Given the description of an element on the screen output the (x, y) to click on. 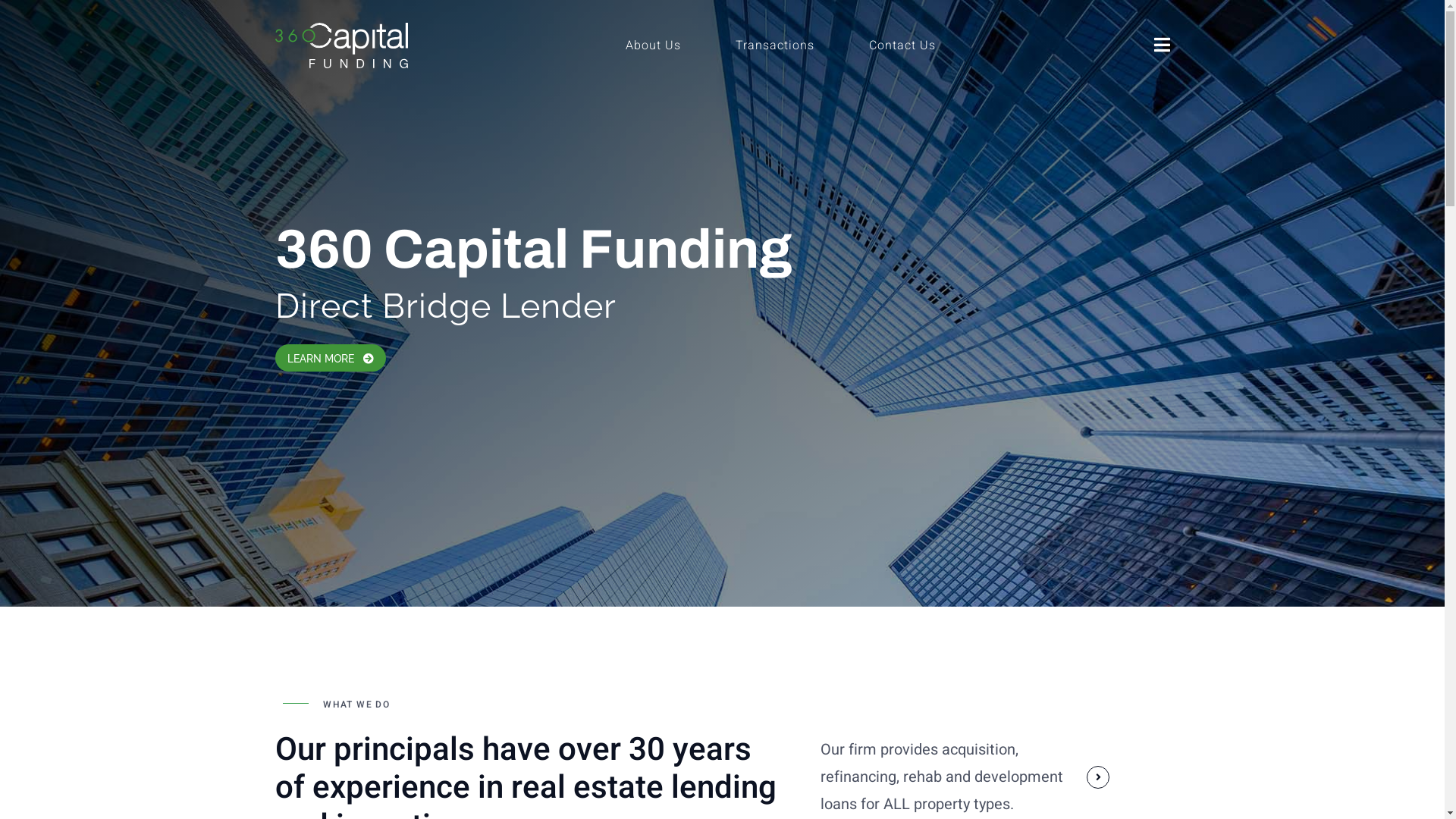
Transactions Element type: text (774, 45)
Contact Us Element type: text (902, 45)
About Us Element type: text (652, 45)
LEARN MORE Element type: text (329, 357)
